Given the description of an element on the screen output the (x, y) to click on. 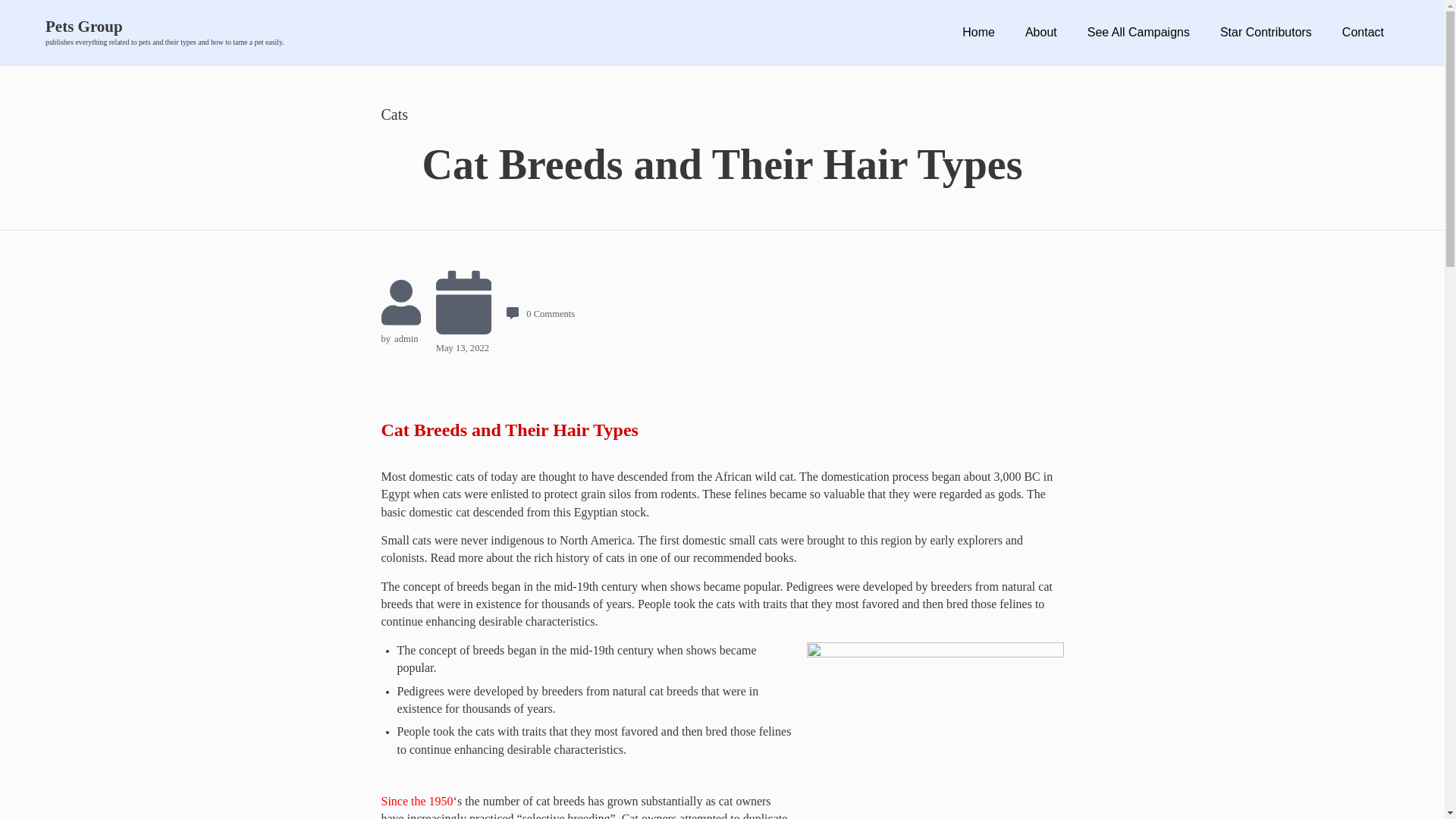
Contact (1362, 32)
Pets Group (164, 26)
About (1040, 32)
admin (405, 338)
See All Campaigns (1138, 32)
Posts by admin (405, 338)
0 Comments (540, 313)
Pets Group (164, 26)
